Given the description of an element on the screen output the (x, y) to click on. 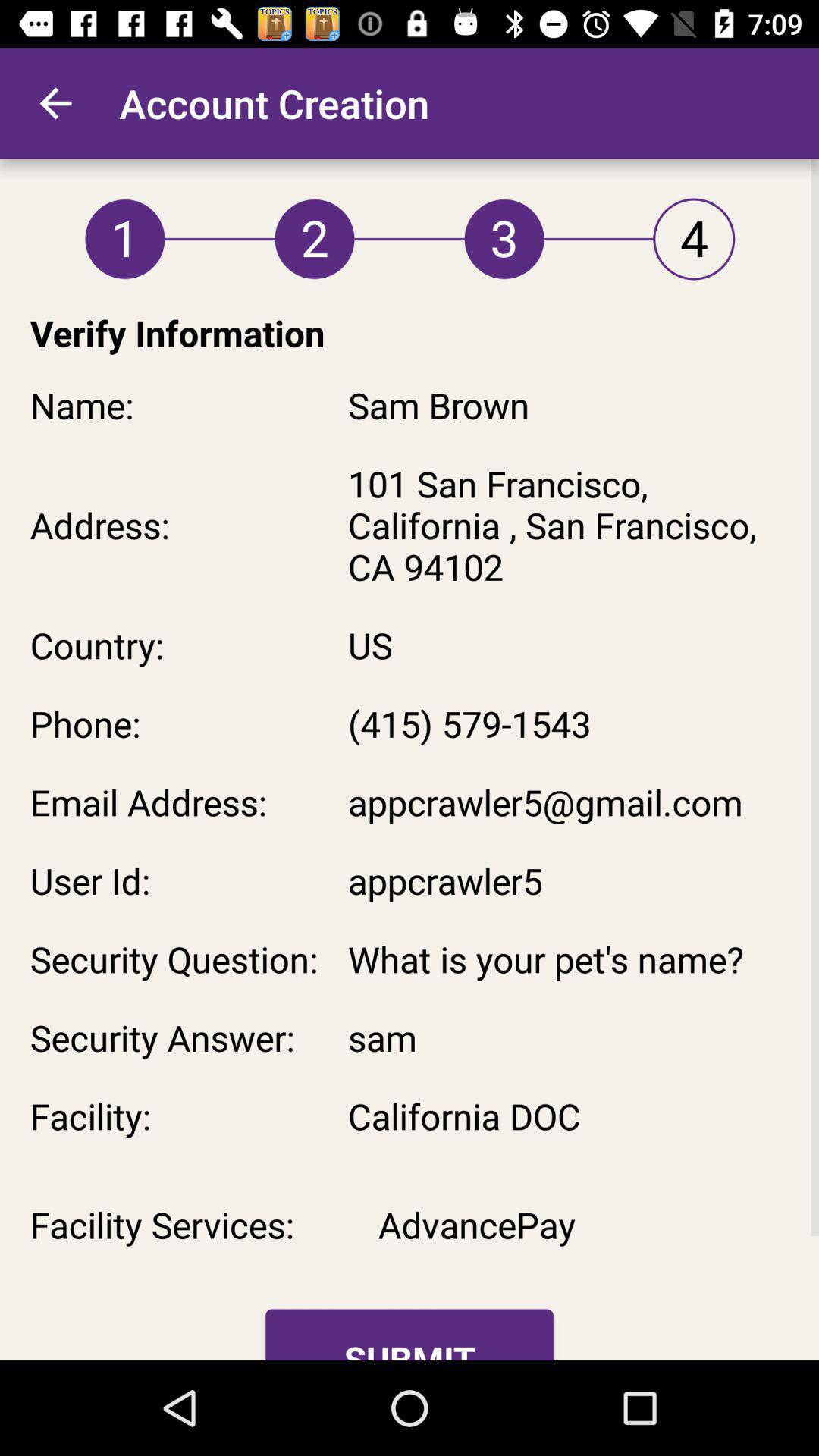
click the app next to the account creation (55, 103)
